Given the description of an element on the screen output the (x, y) to click on. 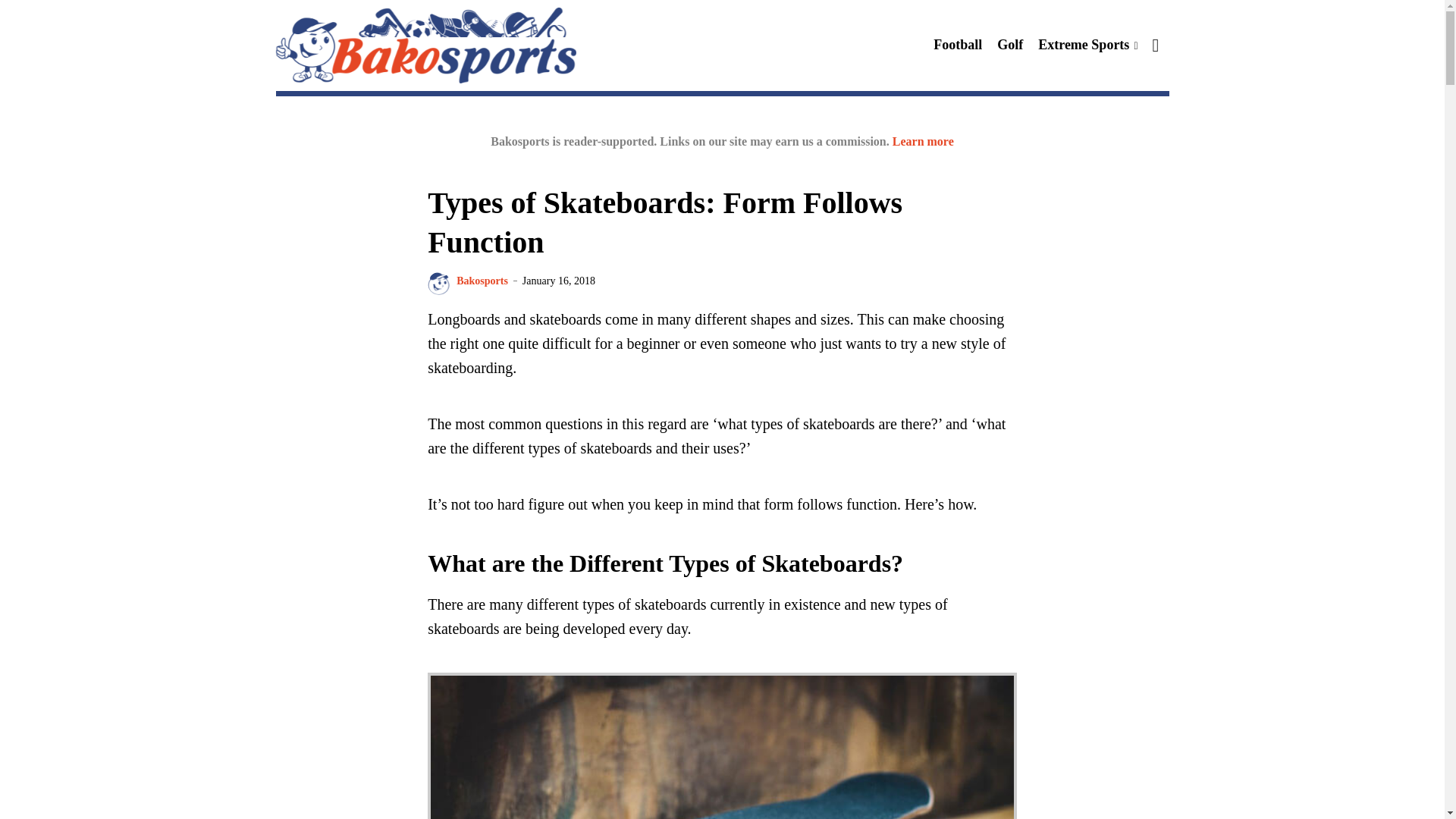
Extreme Sports (1087, 44)
Learn more (922, 141)
Football (957, 44)
Bakosports (482, 280)
